Given the description of an element on the screen output the (x, y) to click on. 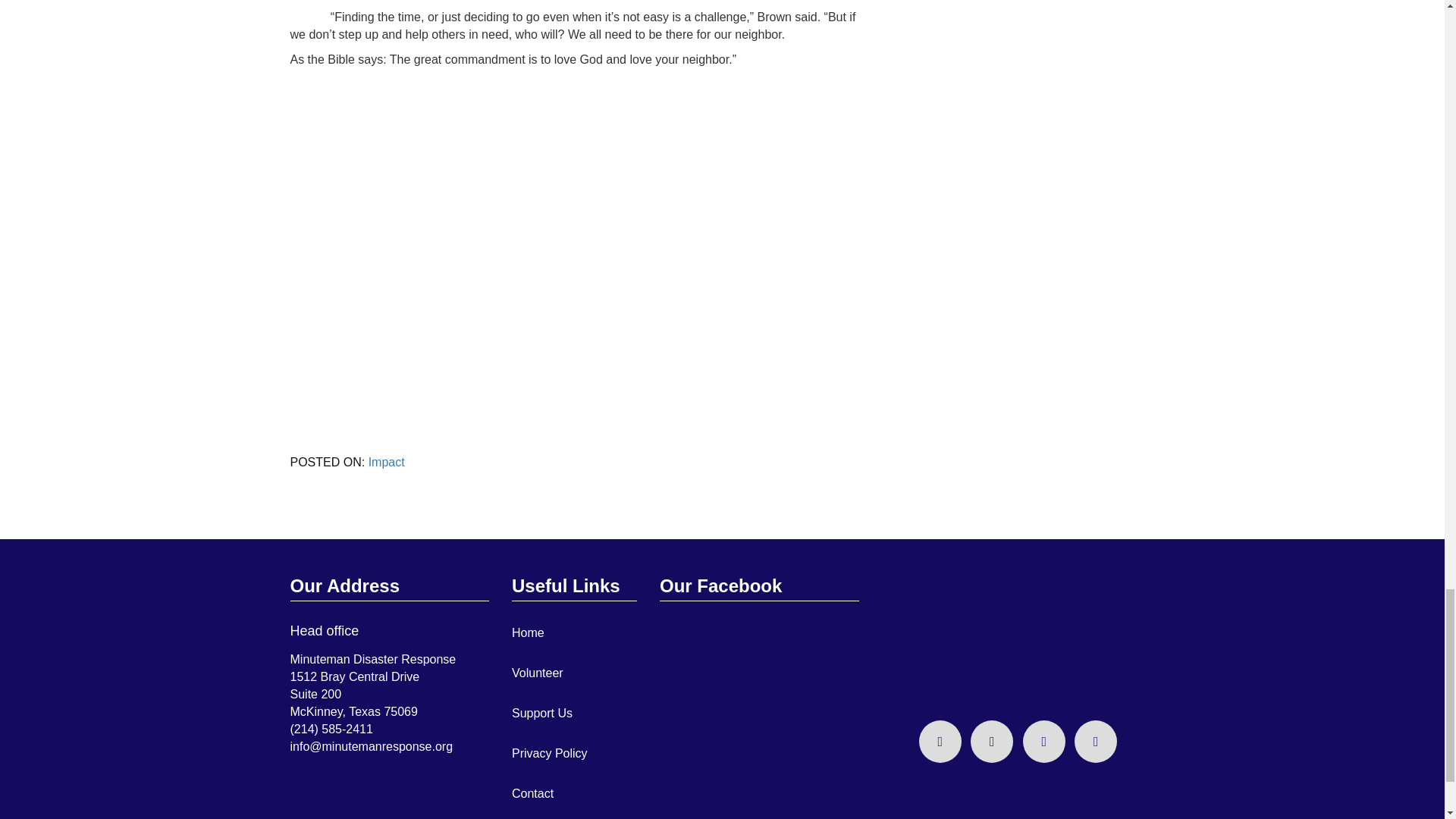
Impact (386, 461)
